Given the description of an element on the screen output the (x, y) to click on. 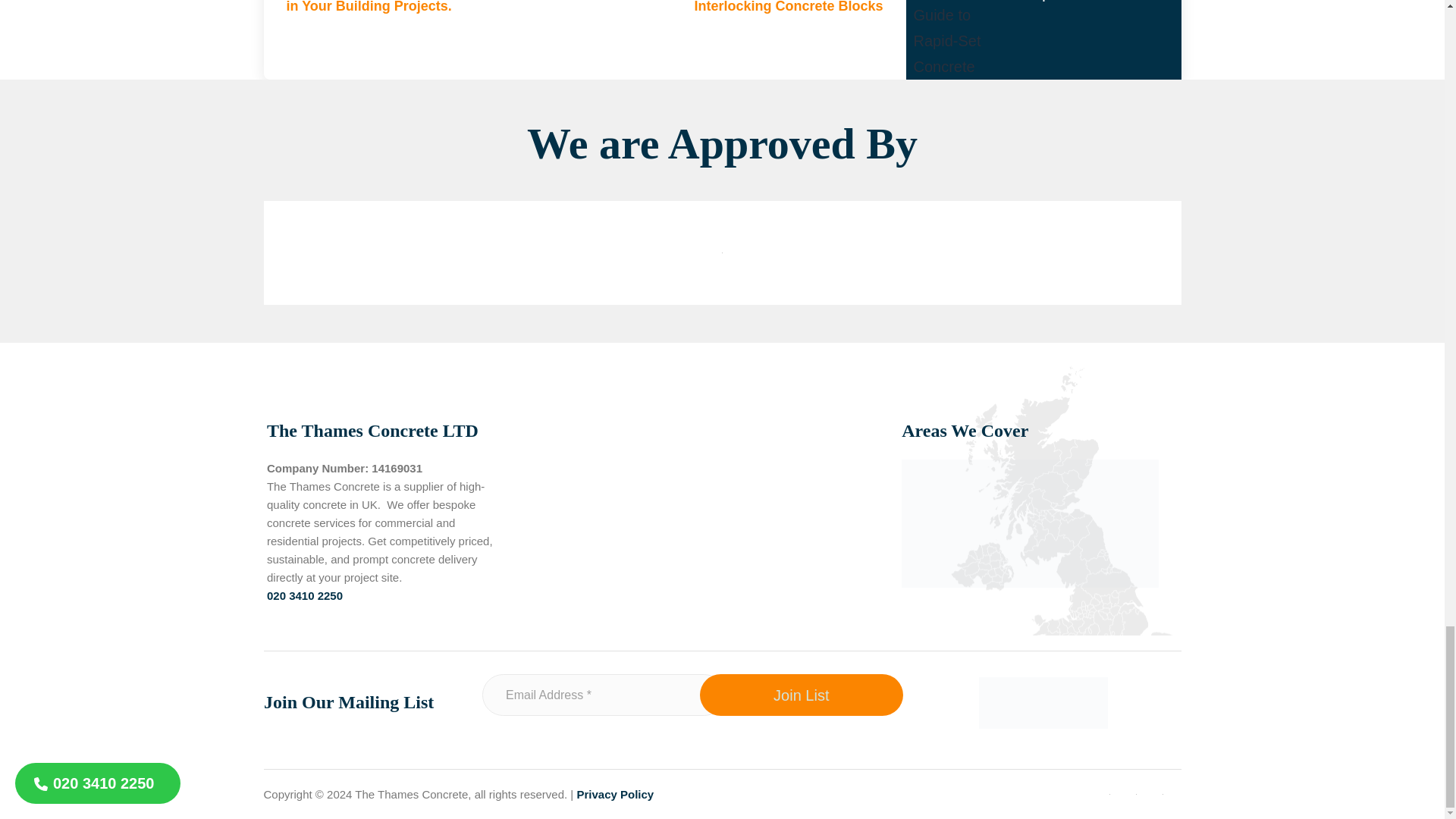
Join List (800, 694)
Email Address (602, 694)
